Given the description of an element on the screen output the (x, y) to click on. 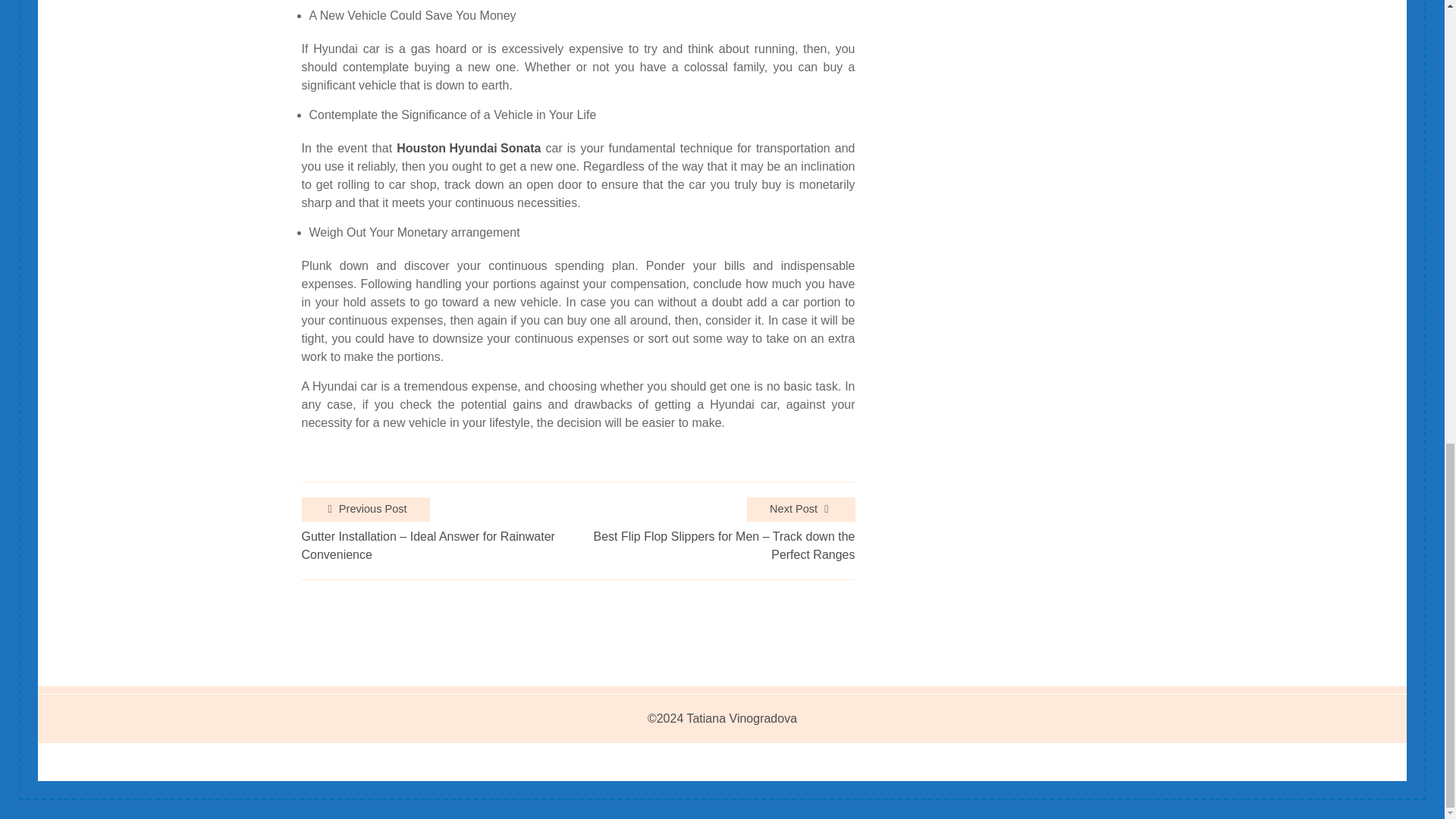
Houston Hyundai Sonata (468, 148)
Next Post (800, 509)
Previous Post (365, 509)
